Given the description of an element on the screen output the (x, y) to click on. 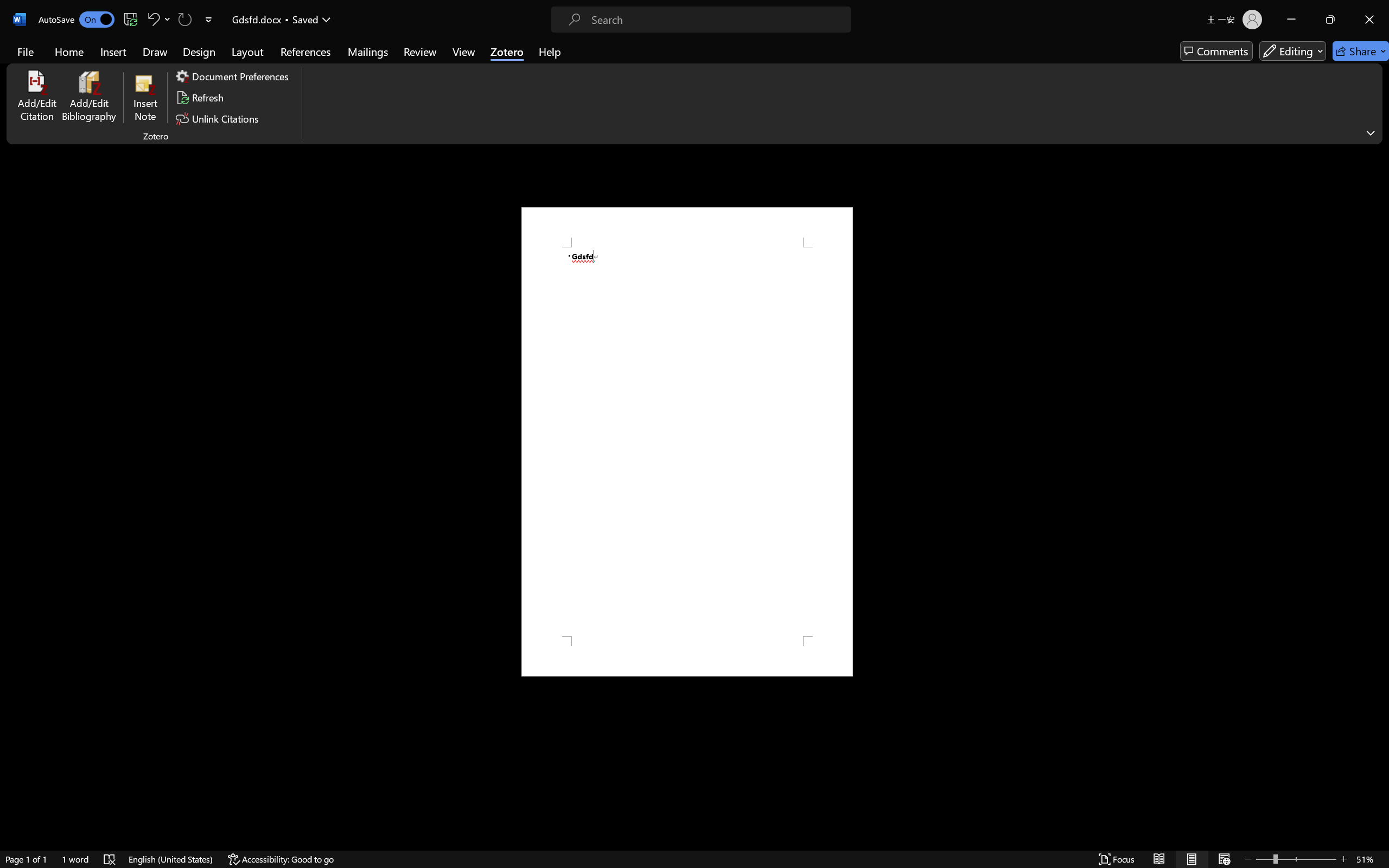
Page 1 content (686, 441)
